Given the description of an element on the screen output the (x, y) to click on. 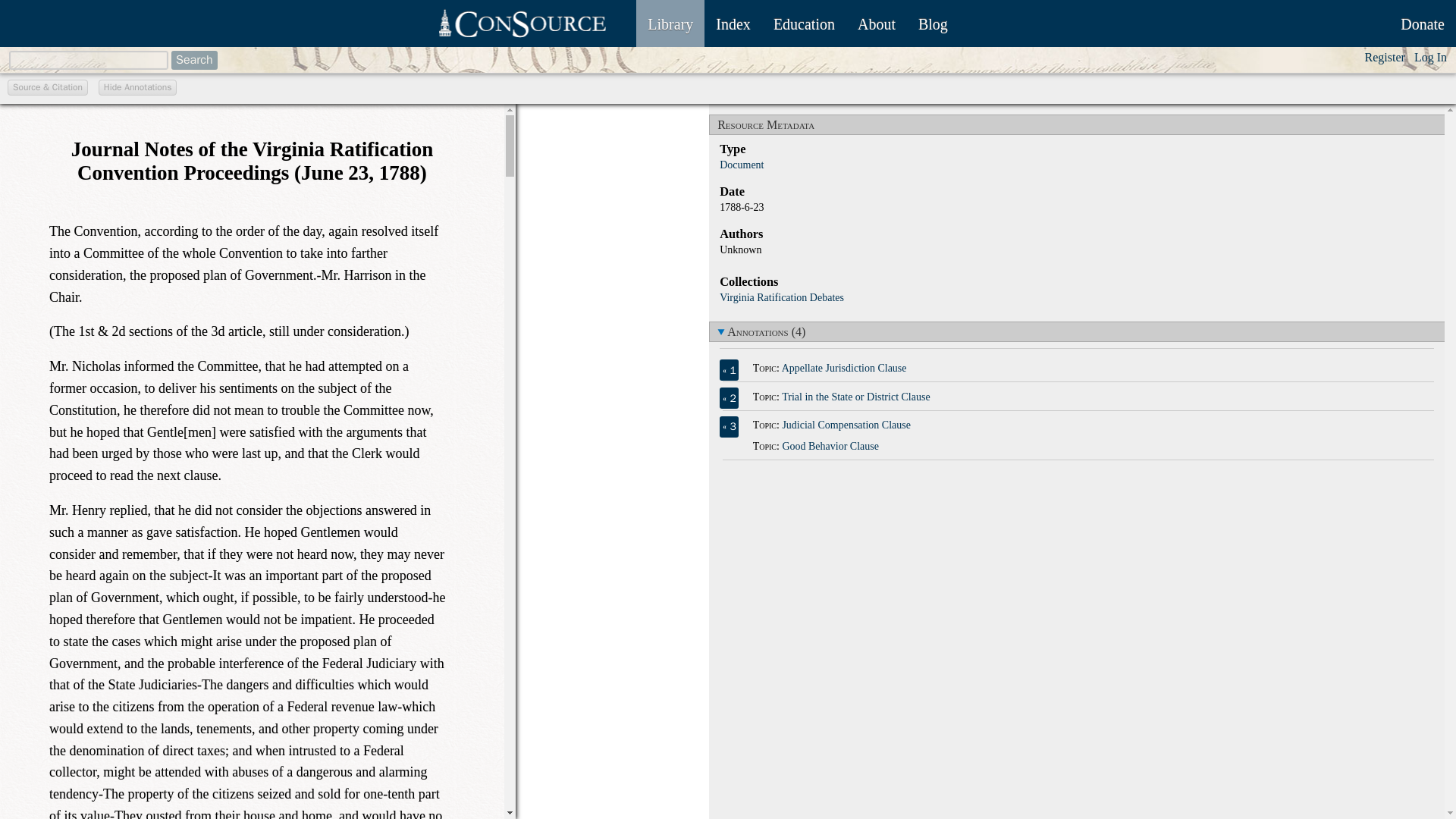
Blog (933, 23)
About (876, 23)
Log In (1430, 57)
Link to this paragraph (30, 329)
Search (193, 59)
ConSource.org (522, 23)
Hide Annotations (138, 87)
Link to this paragraph (30, 508)
Education (803, 23)
Register (1385, 57)
